Given the description of an element on the screen output the (x, y) to click on. 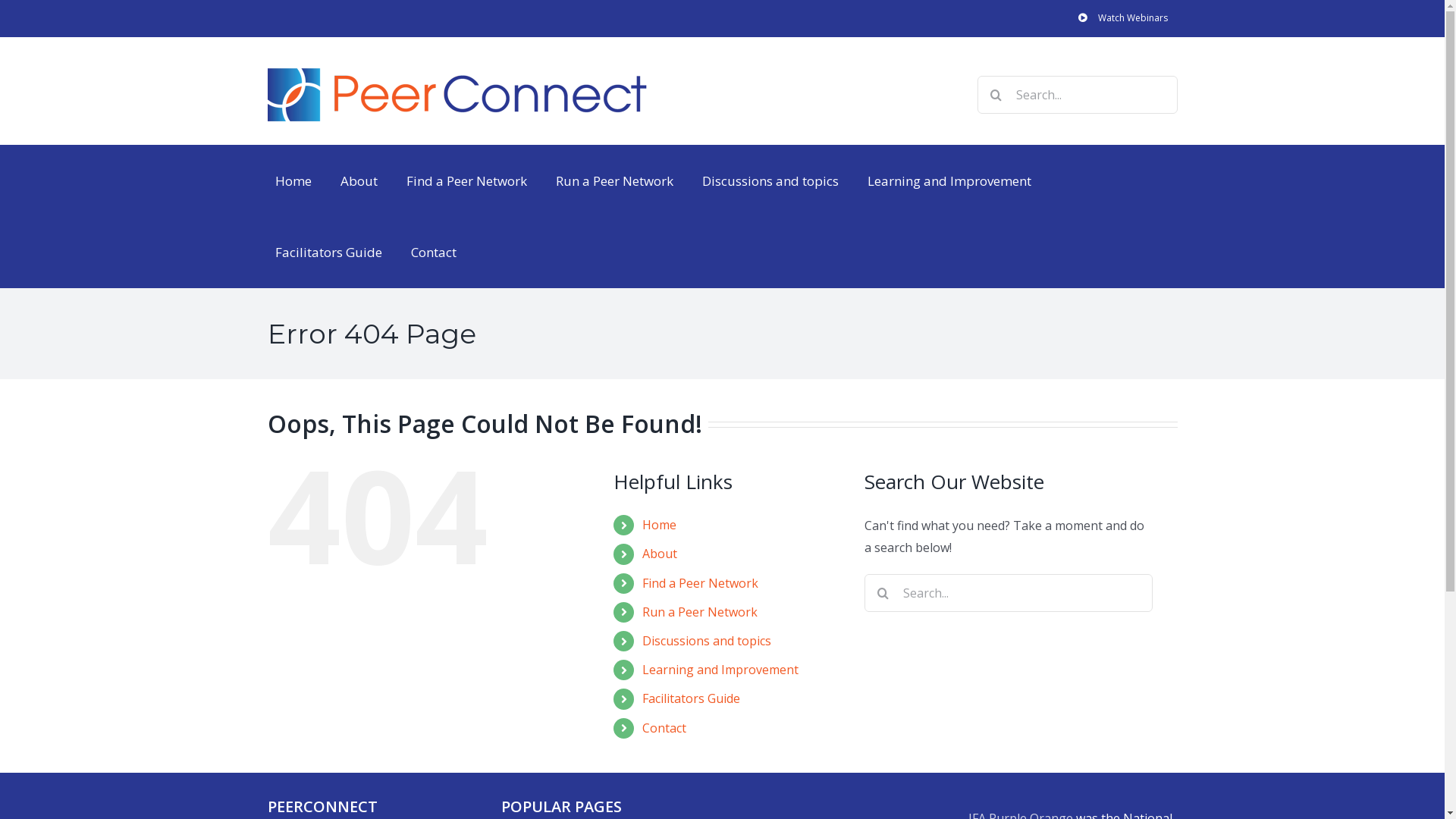
About Element type: text (659, 553)
Facilitators Guide Element type: text (327, 251)
Discussions and topics Element type: text (706, 640)
Home Element type: text (292, 180)
Learning and Improvement Element type: text (720, 669)
Home Element type: text (659, 524)
Find a Peer Network Element type: text (466, 180)
Contact Element type: text (433, 251)
Find a Peer Network Element type: text (700, 582)
Run a Peer Network Element type: text (613, 180)
Facilitators Guide Element type: text (691, 698)
Learning and Improvement Element type: text (948, 180)
Run a Peer Network Element type: text (699, 611)
Watch Webinars Element type: text (1121, 18)
Contact Element type: text (664, 726)
About Element type: text (358, 180)
Discussions and topics Element type: text (770, 180)
